Given the description of an element on the screen output the (x, y) to click on. 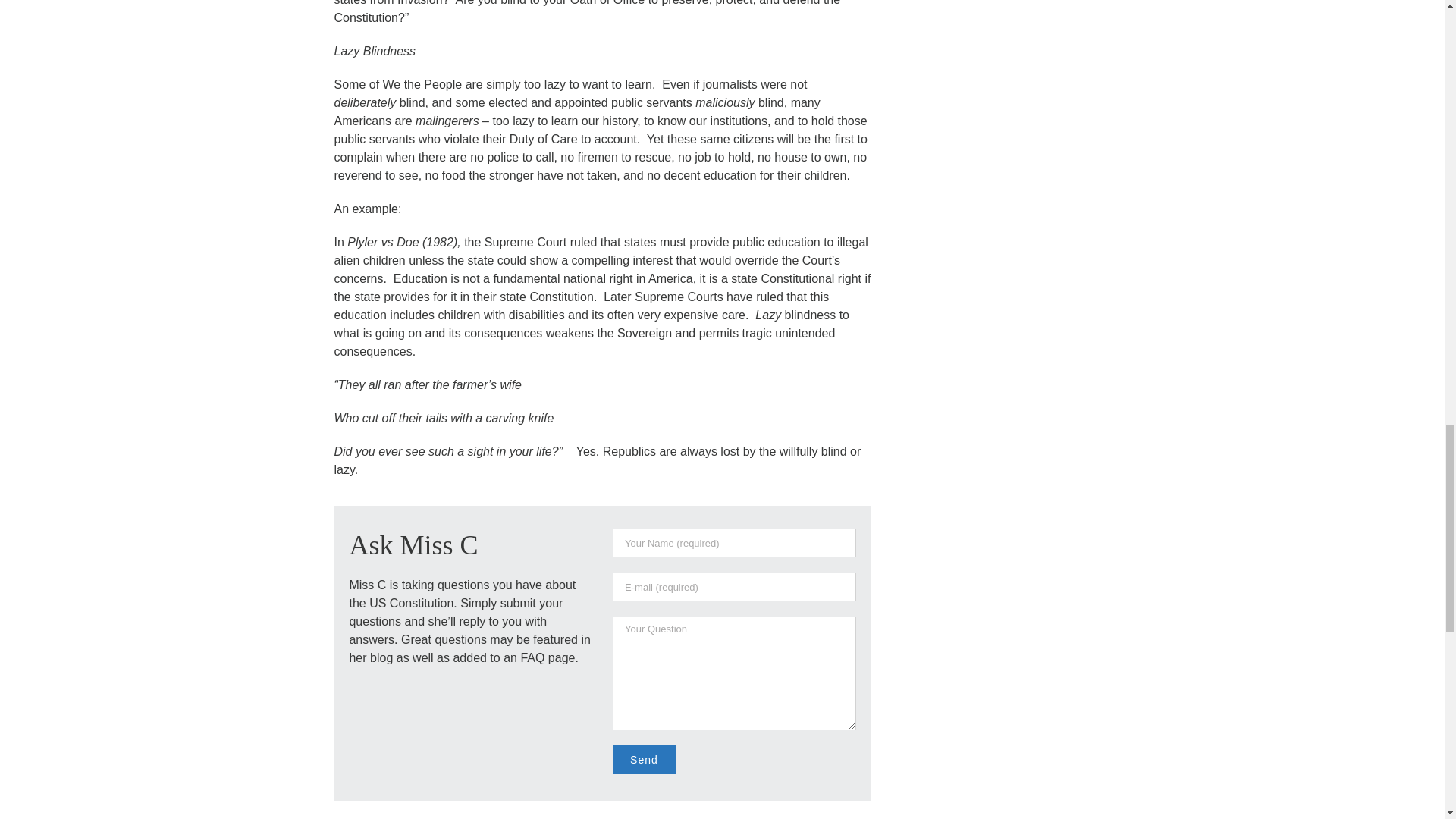
Send (643, 759)
Send (643, 759)
